Given the description of an element on the screen output the (x, y) to click on. 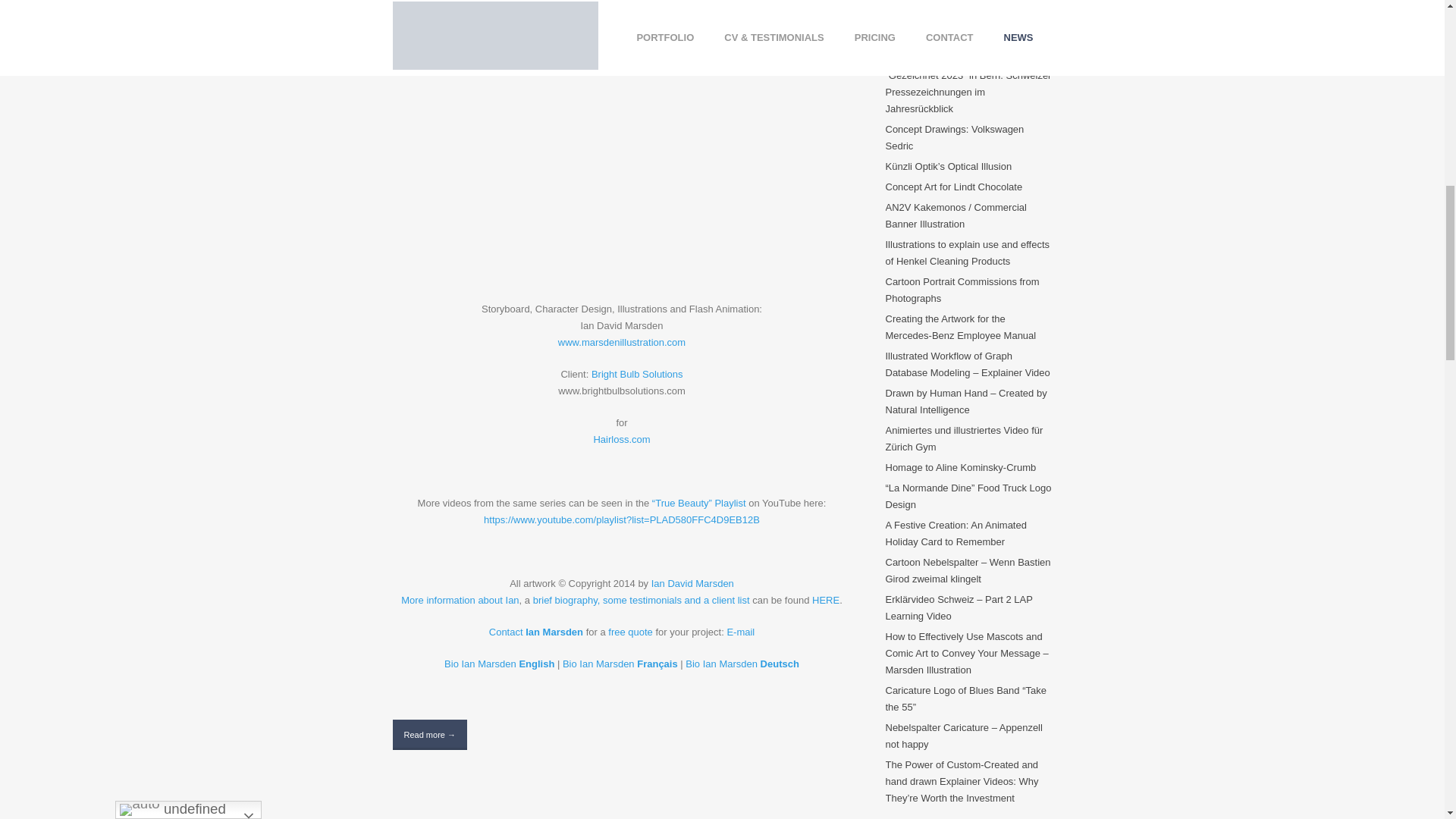
Read more (430, 734)
